Given the description of an element on the screen output the (x, y) to click on. 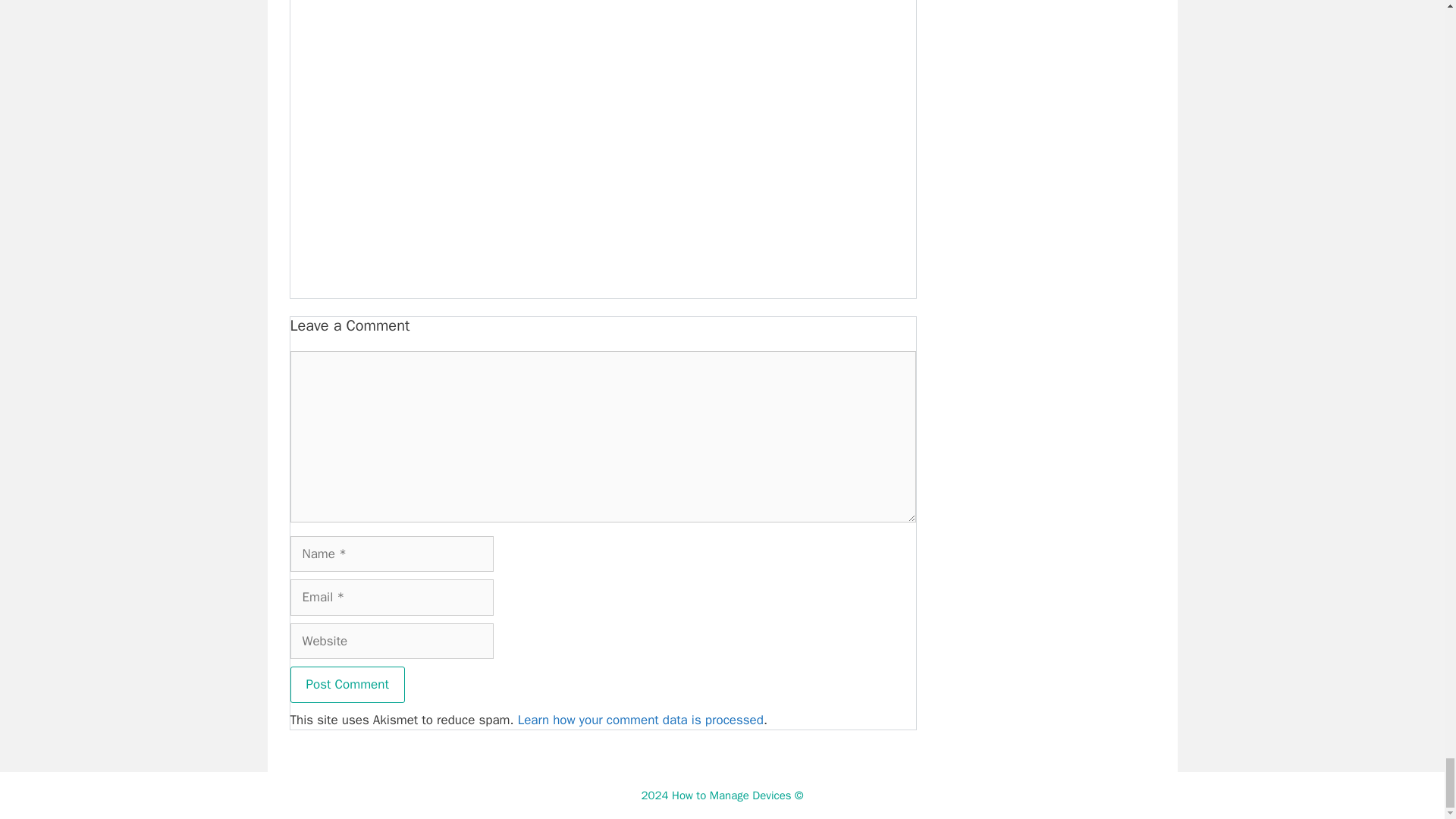
Post Comment (346, 684)
Post Comment (346, 684)
Learn how your comment data is processed (640, 719)
